Given the description of an element on the screen output the (x, y) to click on. 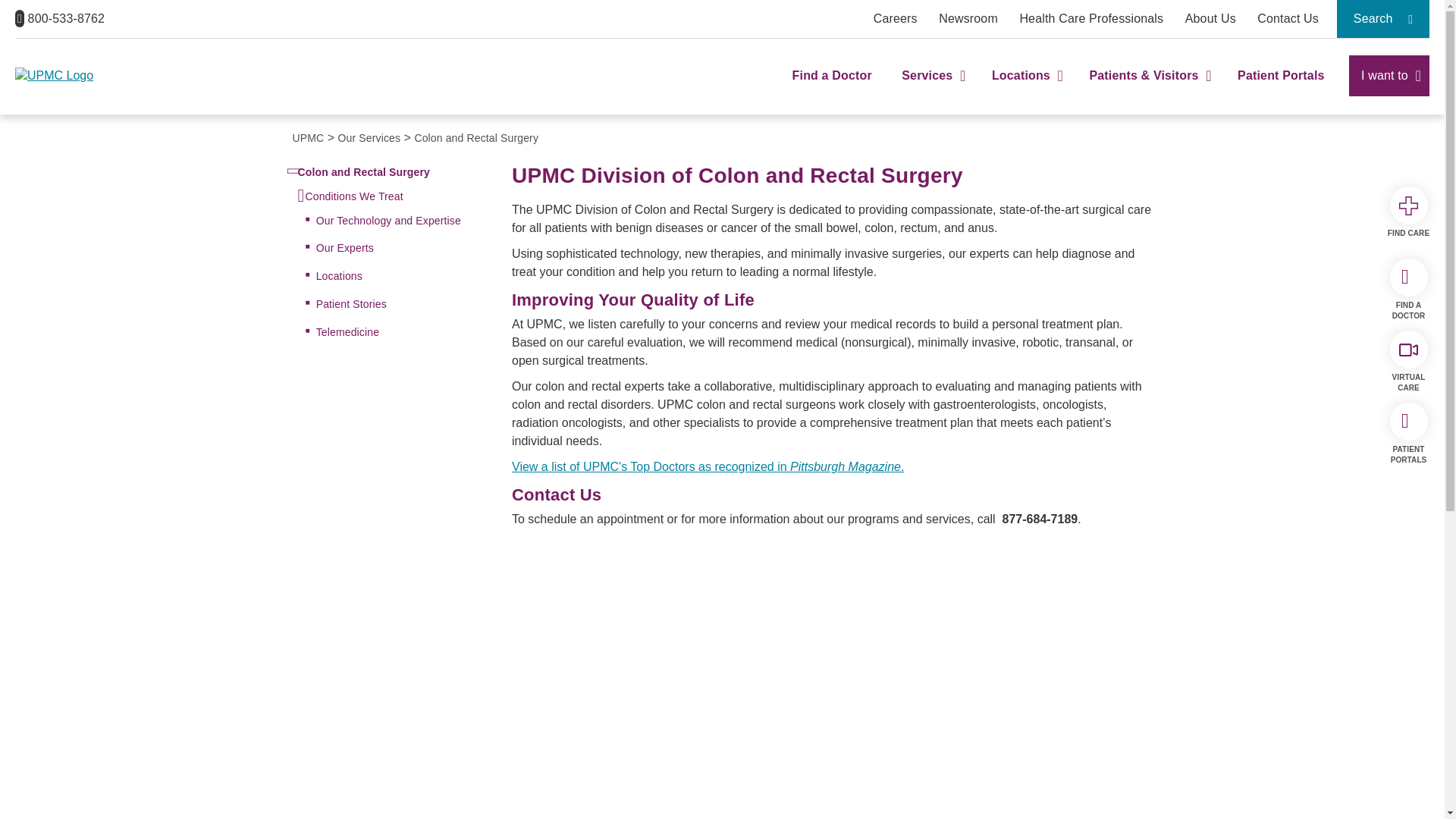
800-533-8762 (59, 18)
Newsroom (968, 18)
Search (1382, 18)
Find a Doctor (832, 89)
Contact Us (1288, 18)
Contact UPMC (1288, 18)
Learn more about careers and job openings at UPMC. (895, 18)
Careers (895, 18)
About Us (1210, 18)
Services (930, 89)
Health Care Professionals (1091, 18)
UPMC (81, 76)
